Given the description of an element on the screen output the (x, y) to click on. 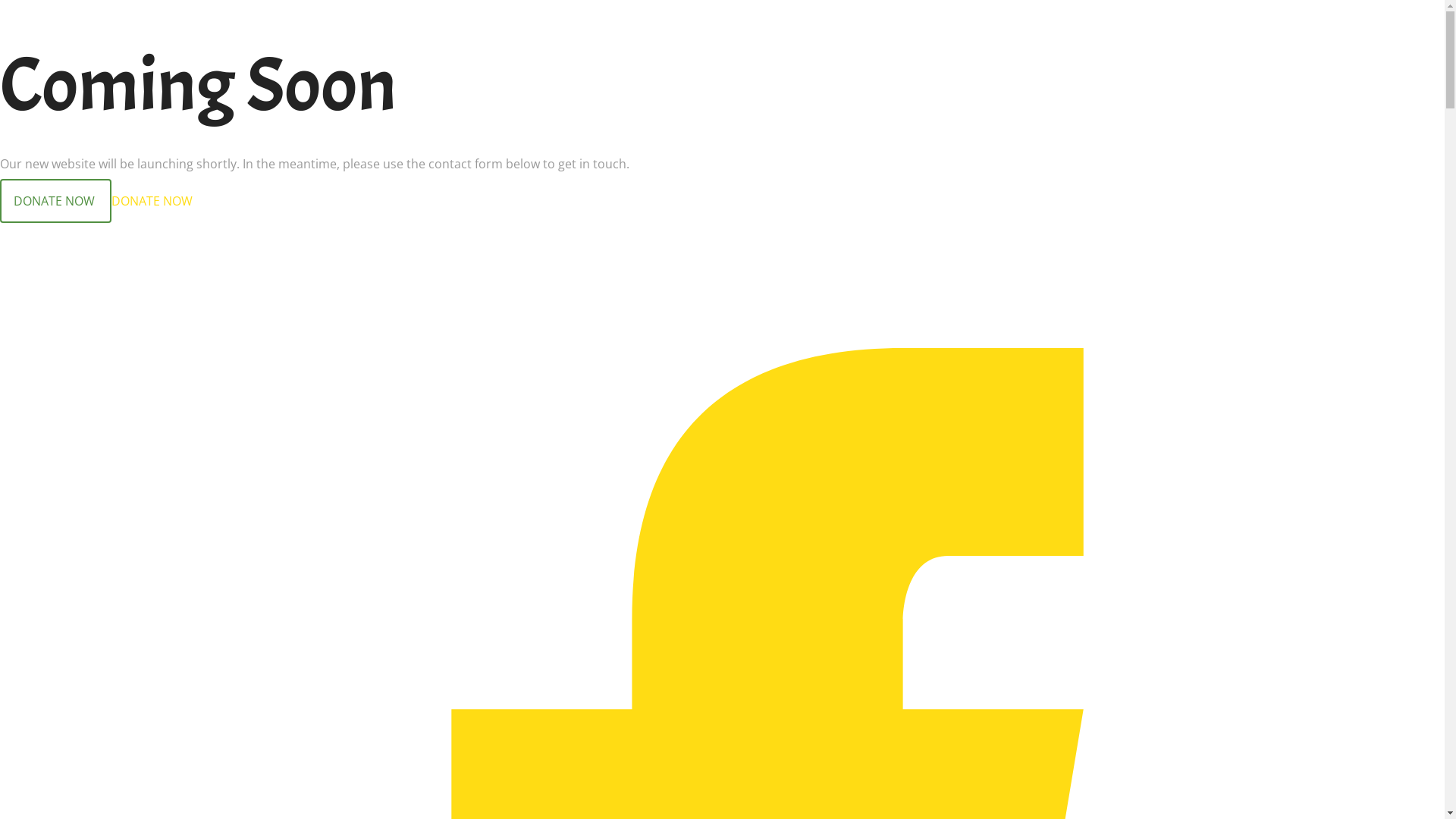
DONATE NOW Element type: text (151, 200)
